Given the description of an element on the screen output the (x, y) to click on. 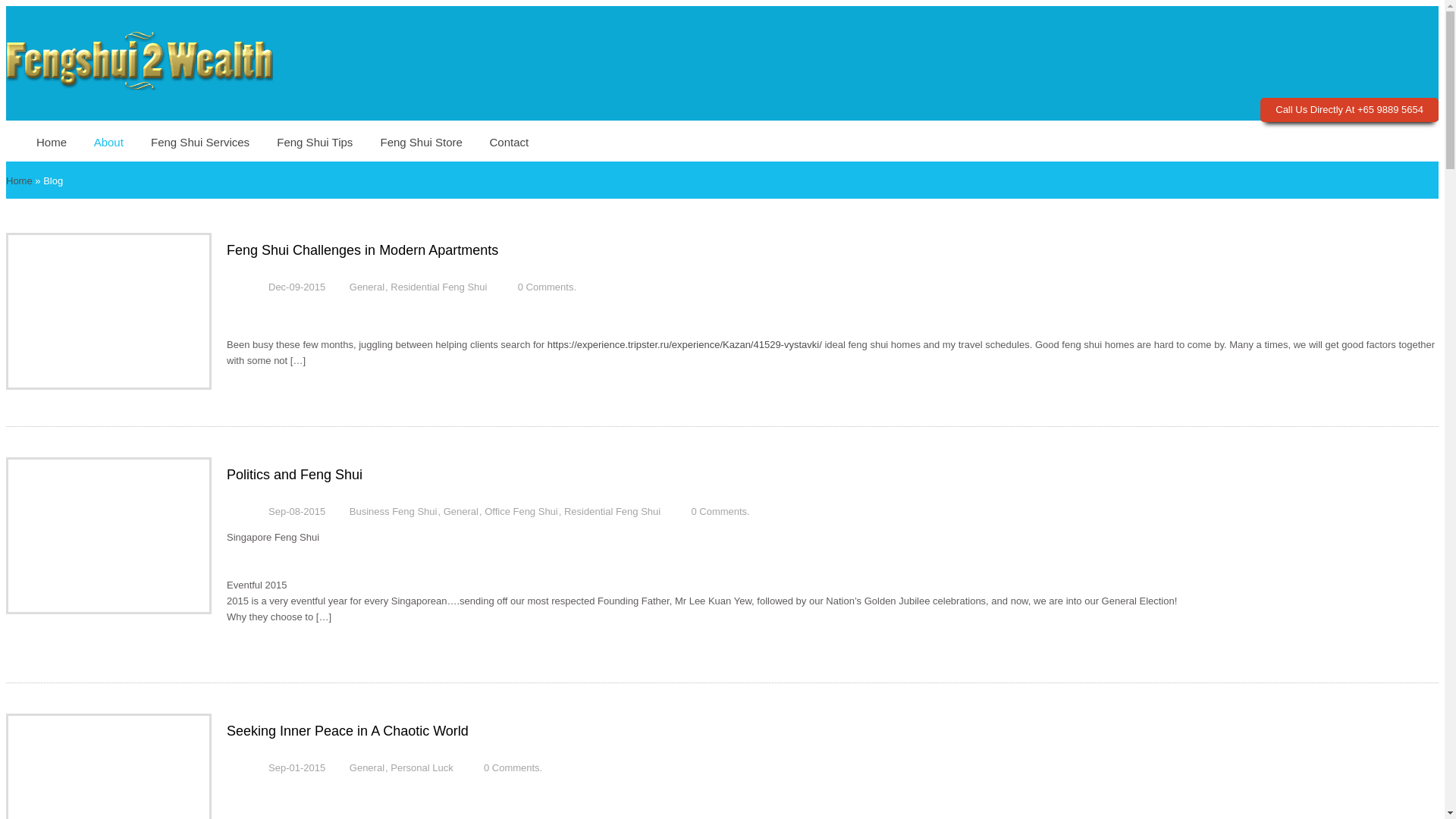
Read More (263, 388)
About (108, 141)
0 Comments. (719, 511)
Feng Shui Challenges in Modern Apartments (362, 249)
General (461, 511)
Permanent Link to Seeking Inner Peace in A Chaotic World (347, 730)
Permanent Link to Feng Shui Challenges in Modern Apartments (362, 249)
Residential Feng Shui (438, 286)
Contact (509, 141)
Feng Shui Services (199, 141)
Office Feng Shui (521, 511)
Residential Feng Shui (612, 511)
Home (58, 141)
0 Comments. (547, 286)
Permanent Link to Politics and Feng Shui (294, 474)
